Given the description of an element on the screen output the (x, y) to click on. 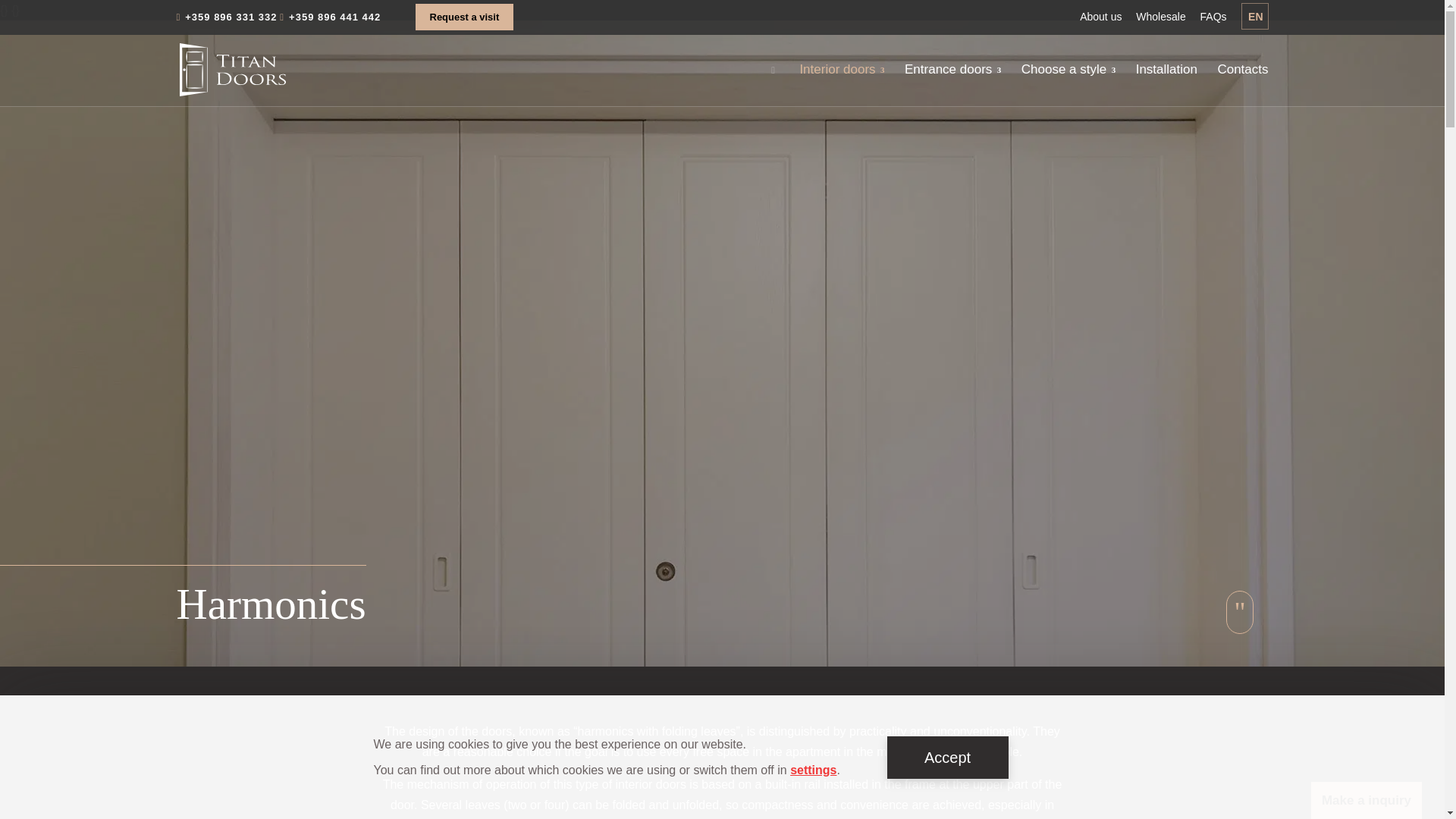
Entrance doors (952, 85)
Installation (1165, 85)
Interior doors (841, 85)
Request a visit (463, 17)
Choose a style (1068, 85)
Contacts (1242, 85)
About us (1100, 16)
Wholesale (1160, 16)
FAQs (1213, 16)
EN (1254, 16)
